Given the description of an element on the screen output the (x, y) to click on. 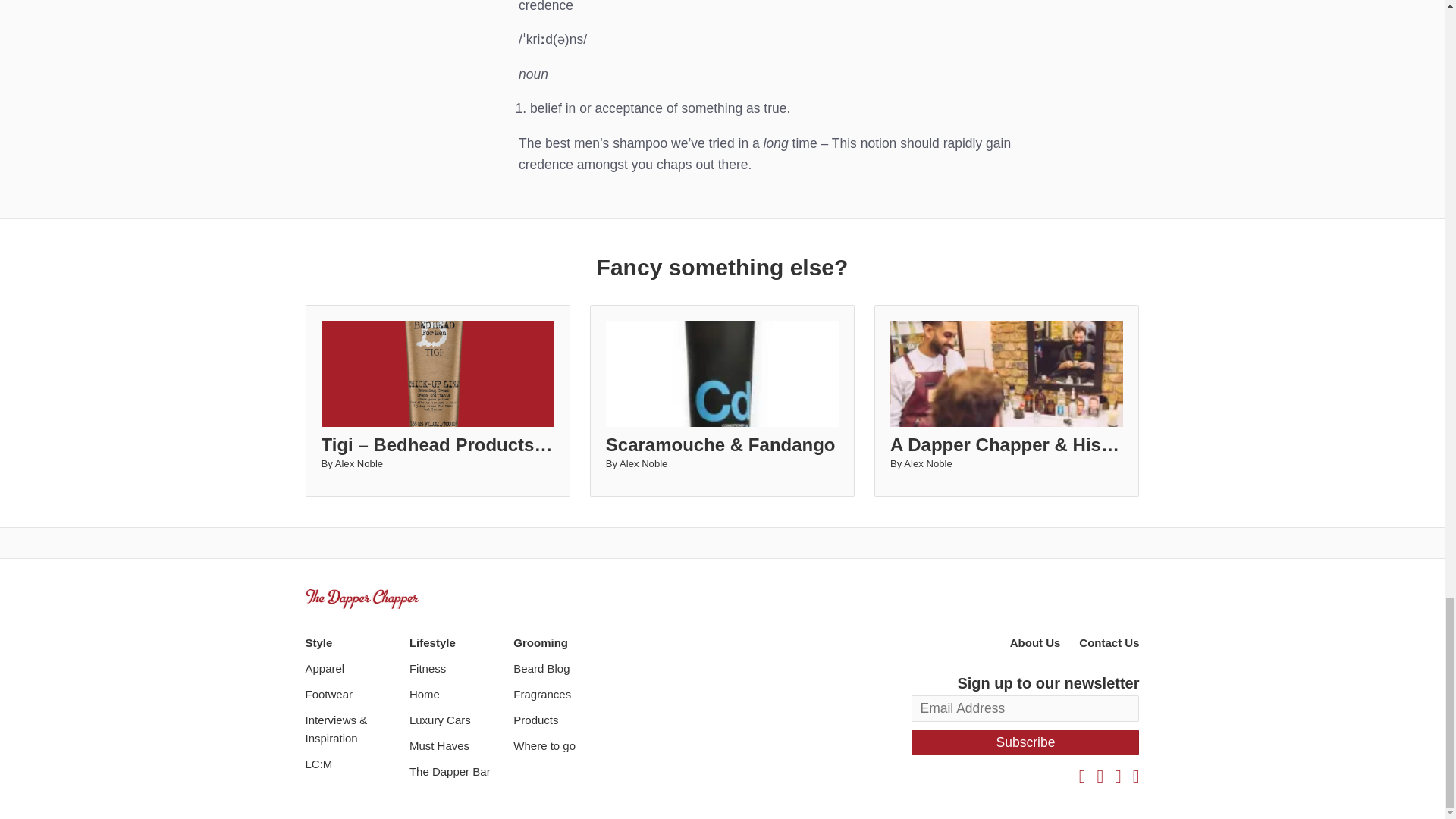
Where to go (560, 746)
Luxury Cars (456, 720)
The Dapper Bar (456, 771)
Contact Us (1108, 642)
Fitness (456, 669)
Products (560, 720)
Fragrances (560, 694)
Beard Blog (560, 669)
Footwear (351, 694)
Subscribe (1024, 742)
Home (456, 694)
About Us (1035, 642)
Must Haves (456, 746)
Apparel (351, 669)
LC:M (351, 764)
